Given the description of an element on the screen output the (x, y) to click on. 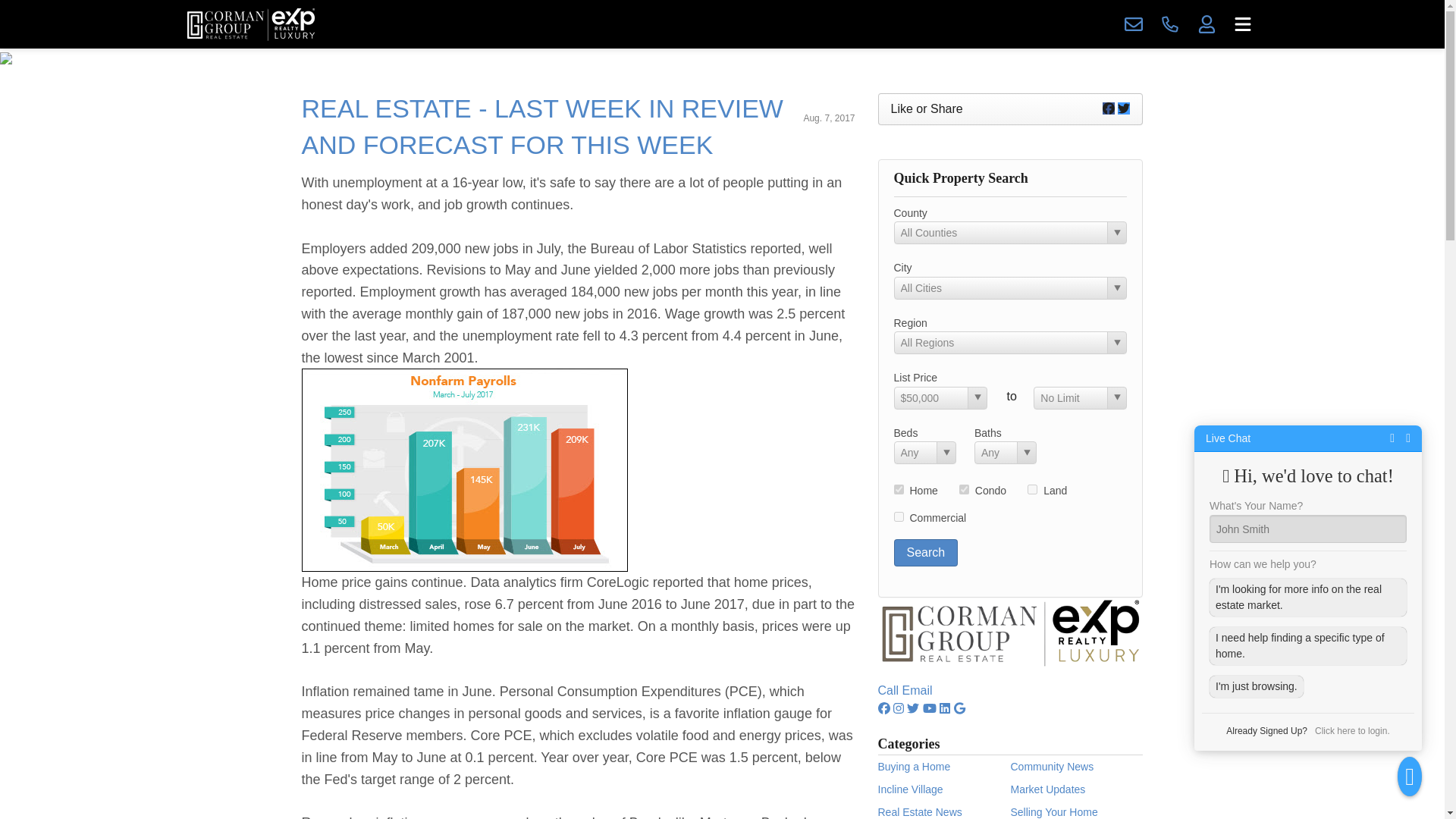
Email (917, 689)
Login or Signup (1206, 23)
com (897, 516)
REAL ESTATE - LAST WEEK IN REVIEW AND FORECAST FOR THIS WEEK (542, 126)
con (964, 489)
Search (925, 552)
Contact by Phone (1169, 23)
Click to visit Our Facebook Page (883, 707)
Open contact form (1133, 23)
Live Chat: undefined (1227, 437)
lnd (1031, 489)
Click to visit Our Youtube Page (929, 707)
res (897, 489)
Click to visit Our Linkedin Page (944, 707)
Open Chat Client (1409, 776)
